Given the description of an element on the screen output the (x, y) to click on. 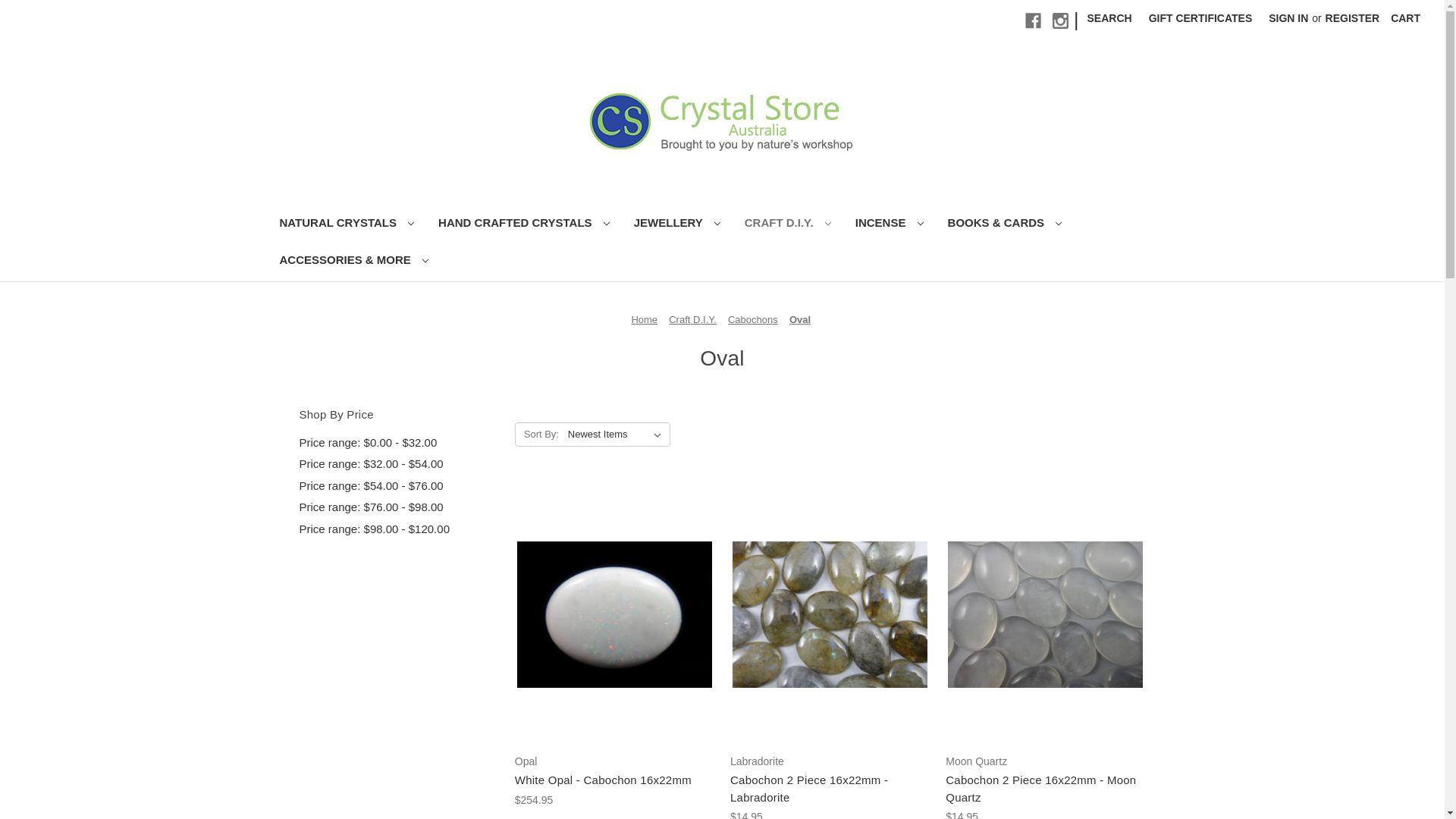
Craft D.I.Y. Element type: text (692, 319)
Beautiful 16x22mm White Opal Cabochon with amazing colours. Element type: hover (614, 614)
Instagram Element type: hover (1060, 20)
Price range: $32.00 - $54.00 Element type: text (398, 464)
SEARCH Element type: text (1109, 18)
White Opal - Cabochon 16x22mm Element type: text (614, 780)
CRAFT D.I.Y. Element type: text (787, 224)
The Crystal Store Element type: hover (721, 119)
INCENSE Element type: text (889, 224)
Home Element type: text (643, 319)
Oval Element type: text (799, 319)
Price range: $54.00 - $76.00 Element type: text (398, 486)
CART Element type: text (1405, 18)
HAND CRAFTED CRYSTALS Element type: text (523, 224)
JEWELLERY Element type: text (676, 224)
NATURAL CRYSTALS Element type: text (346, 224)
Cabochons Element type: text (753, 319)
ACCESSORIES & MORE Element type: text (353, 261)
Price range: $0.00 - $32.00 Element type: text (398, 443)
REGISTER Element type: text (1352, 18)
Price range: $98.00 - $120.00 Element type: text (398, 529)
BOOKS & CARDS Element type: text (1004, 224)
GIFT CERTIFICATES Element type: text (1200, 18)
Facebook Element type: hover (1033, 20)
Moon Quartz Cabochon 16x22mm - pack of 2. Element type: hover (1044, 614)
Labradorite Cabochon 16x22mm - pack of 2. Element type: hover (829, 614)
SIGN IN Element type: text (1288, 18)
Price range: $76.00 - $98.00 Element type: text (398, 507)
Cabochon 2 Piece 16x22mm - Moon Quartz Element type: text (1045, 788)
Cabochon 2 Piece 16x22mm - Labradorite Element type: text (829, 788)
